Given the description of an element on the screen output the (x, y) to click on. 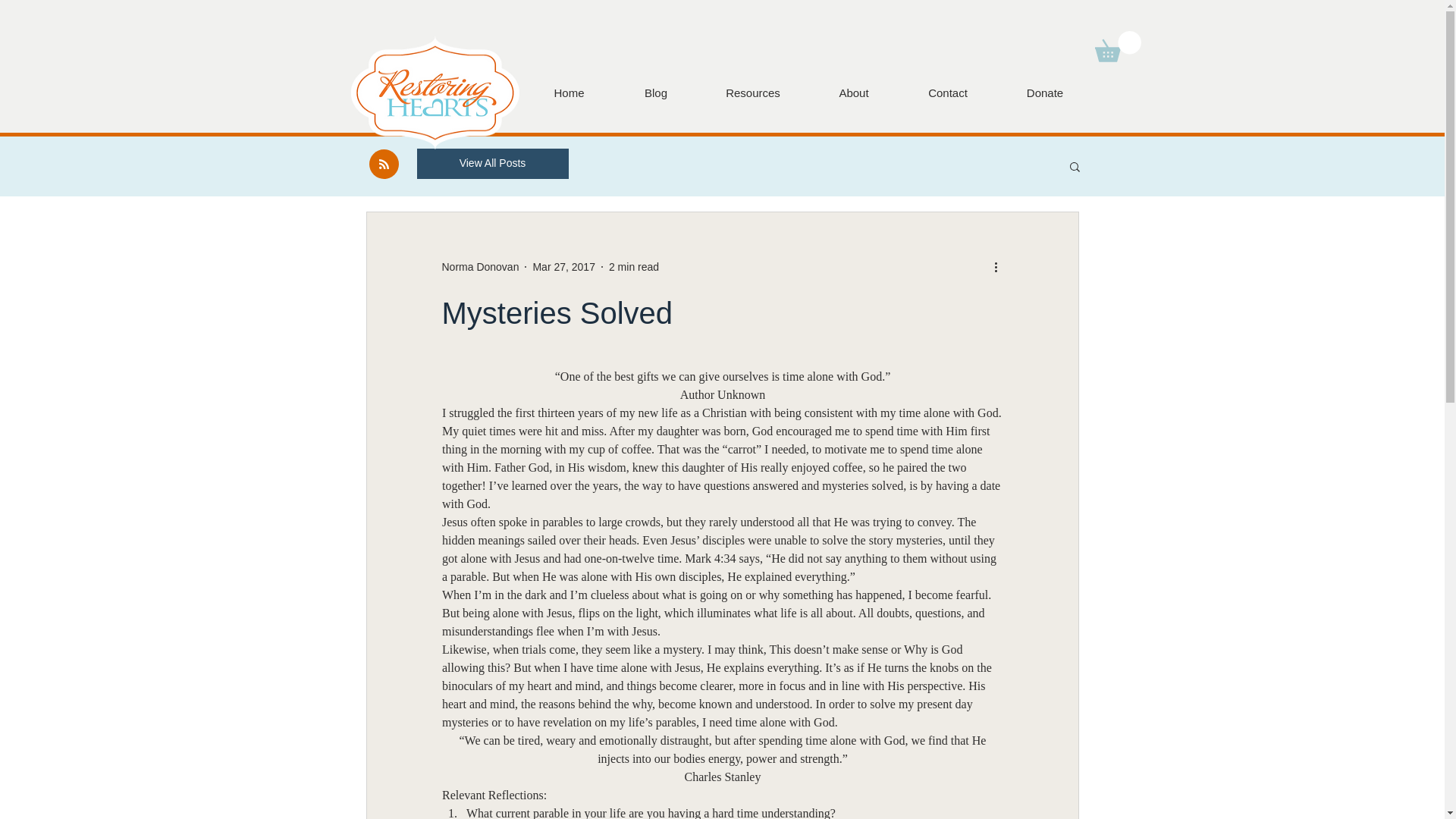
Mar 27, 2017 (563, 266)
Norma Donovan (479, 267)
Donate (1044, 92)
Norma Donovan (479, 267)
About (853, 92)
Contact (948, 92)
2 min read (633, 266)
Blog (655, 92)
Home (568, 92)
View All Posts (492, 163)
